Given the description of an element on the screen output the (x, y) to click on. 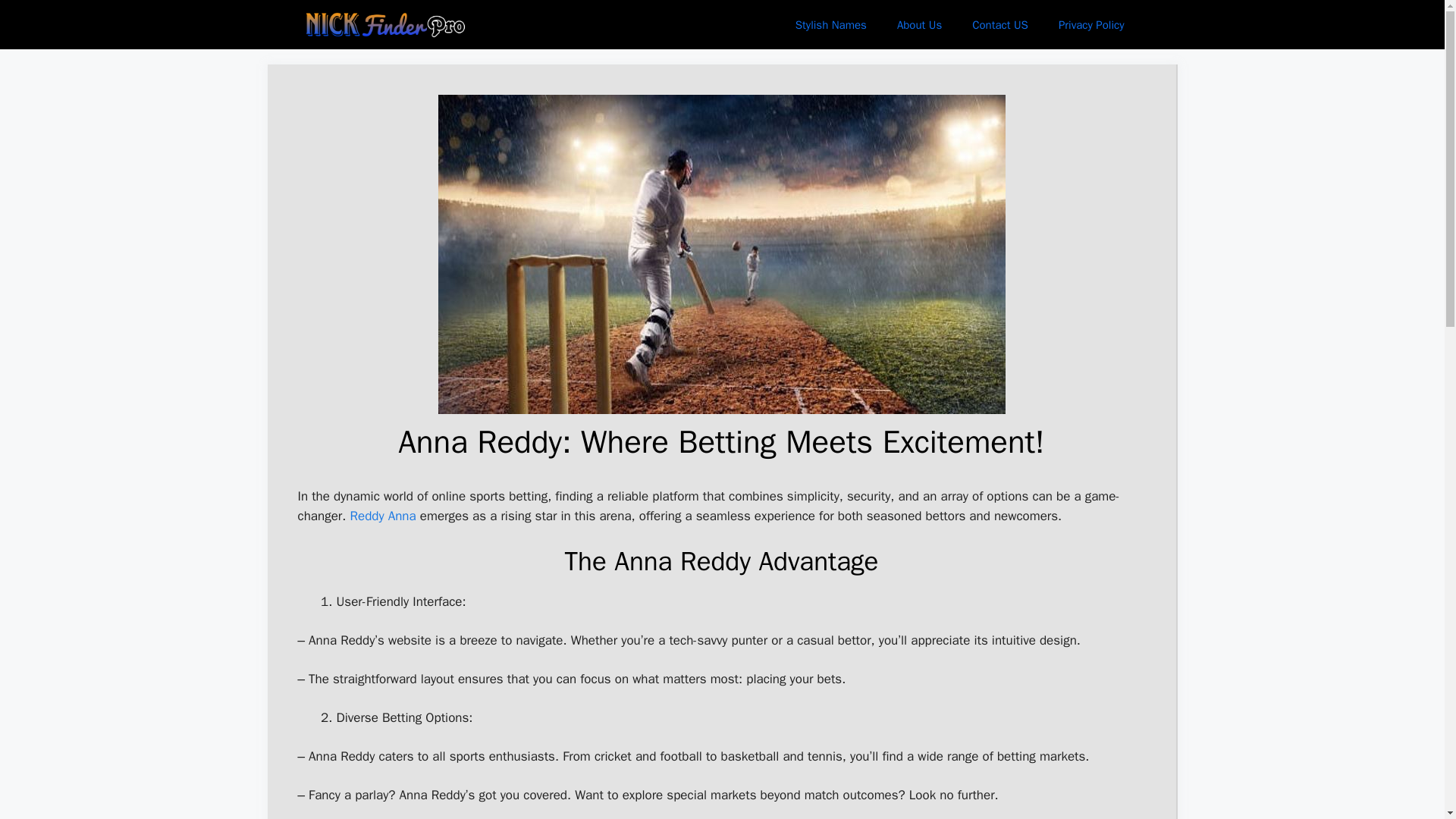
About Us (919, 23)
Reddy Anna (381, 515)
Privacy Policy (1091, 23)
NickFinderPro (390, 24)
Contact US (999, 23)
Stylish Names (831, 23)
